Given the description of an element on the screen output the (x, y) to click on. 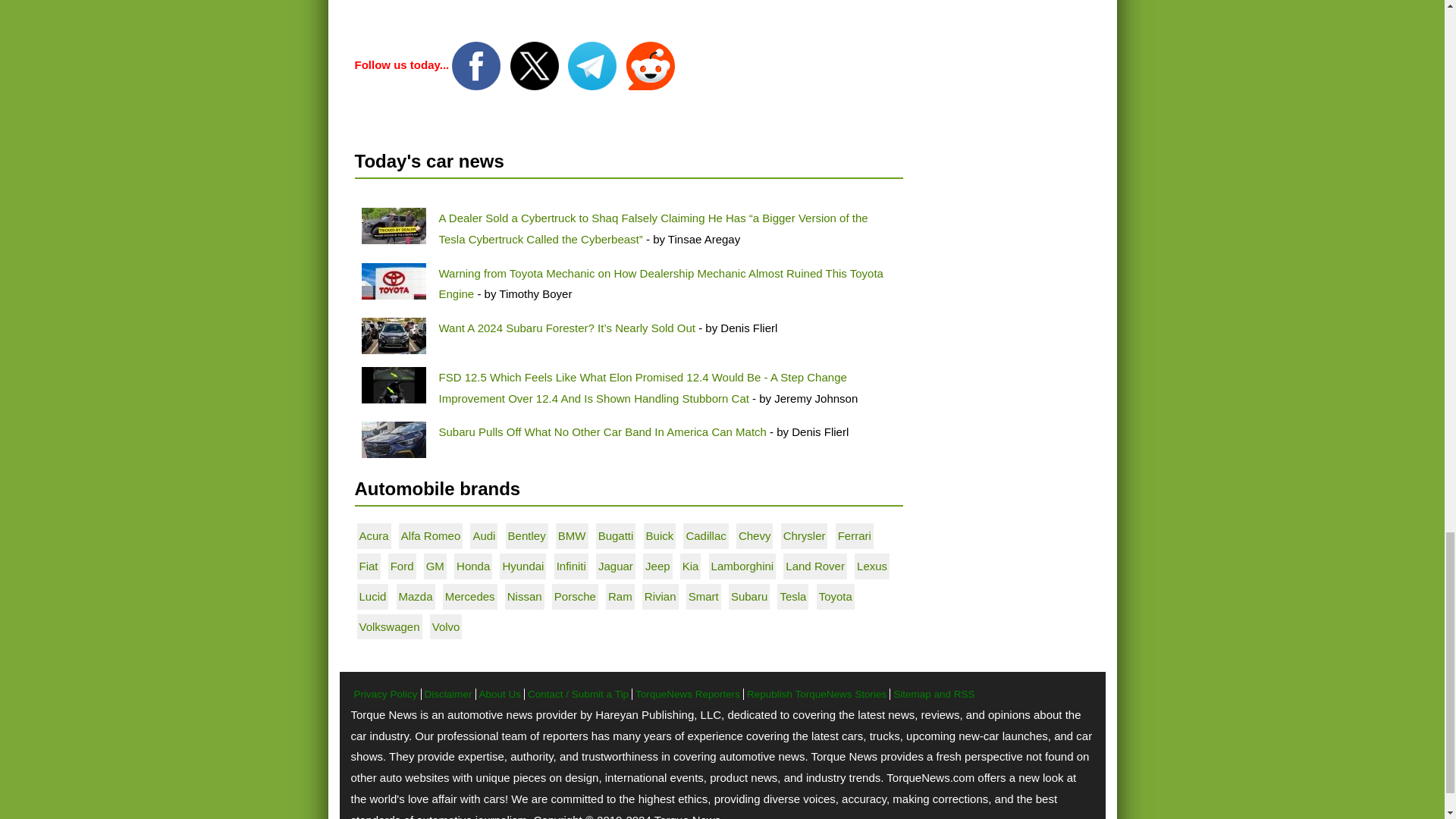
2024 Subaru Forester front view (393, 335)
Alfa Romeo (430, 535)
Audi (483, 535)
2024 Subaru Crosstrek front end view  (393, 439)
Subaru Pulls Off What No Other Car Band In America Can Match (601, 431)
Join us on Telegram! (593, 64)
Join us on Reddit! (650, 64)
Common Way Car Owners Ruin Their Car's Engine (393, 280)
Acura (373, 535)
Bentley (527, 535)
